Given the description of an element on the screen output the (x, y) to click on. 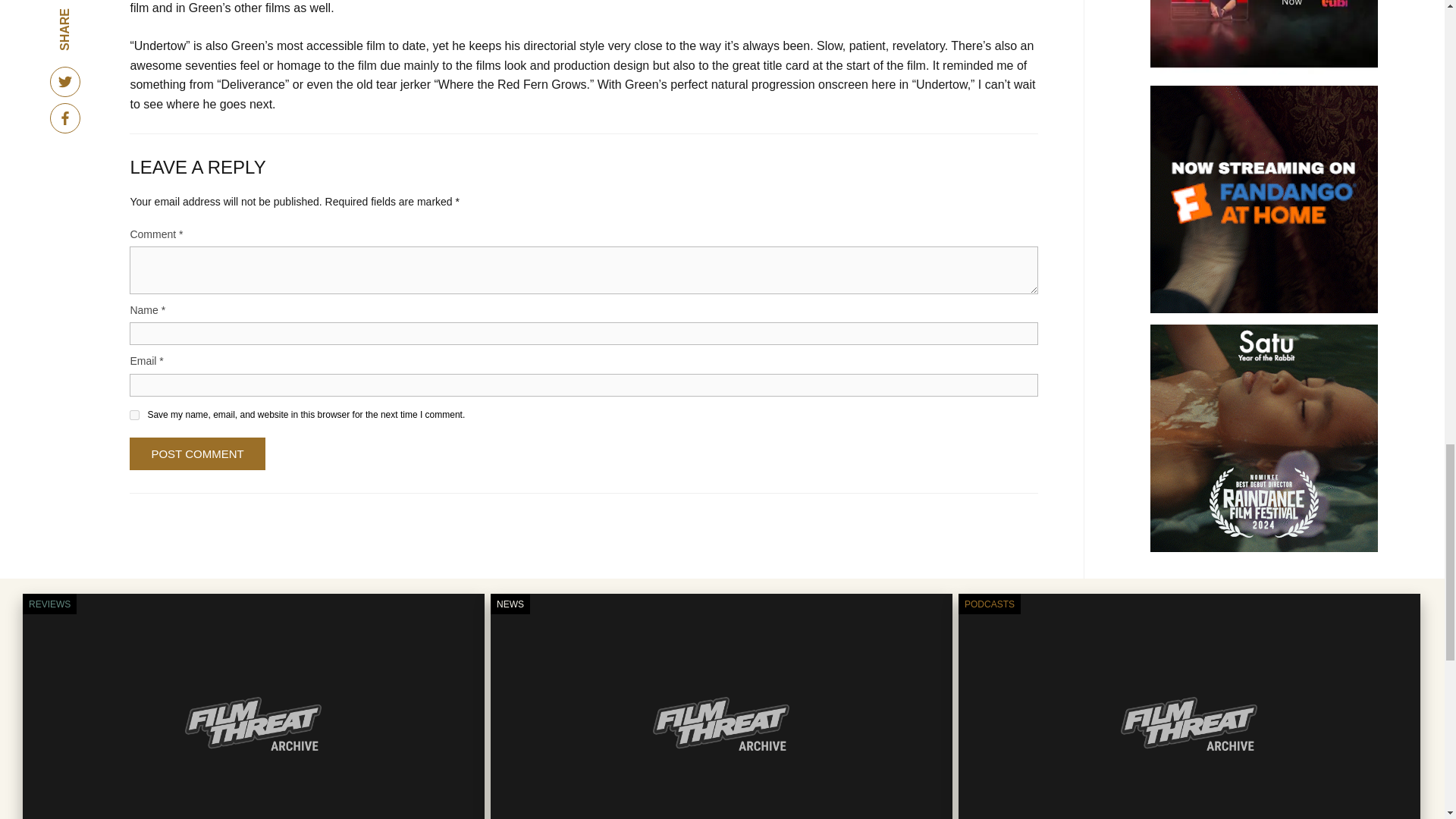
Post Comment (196, 453)
REVIEWS (49, 604)
Reviews (49, 604)
yes (134, 415)
Post Comment (196, 453)
News (510, 604)
Podcasts (988, 604)
